Given the description of an element on the screen output the (x, y) to click on. 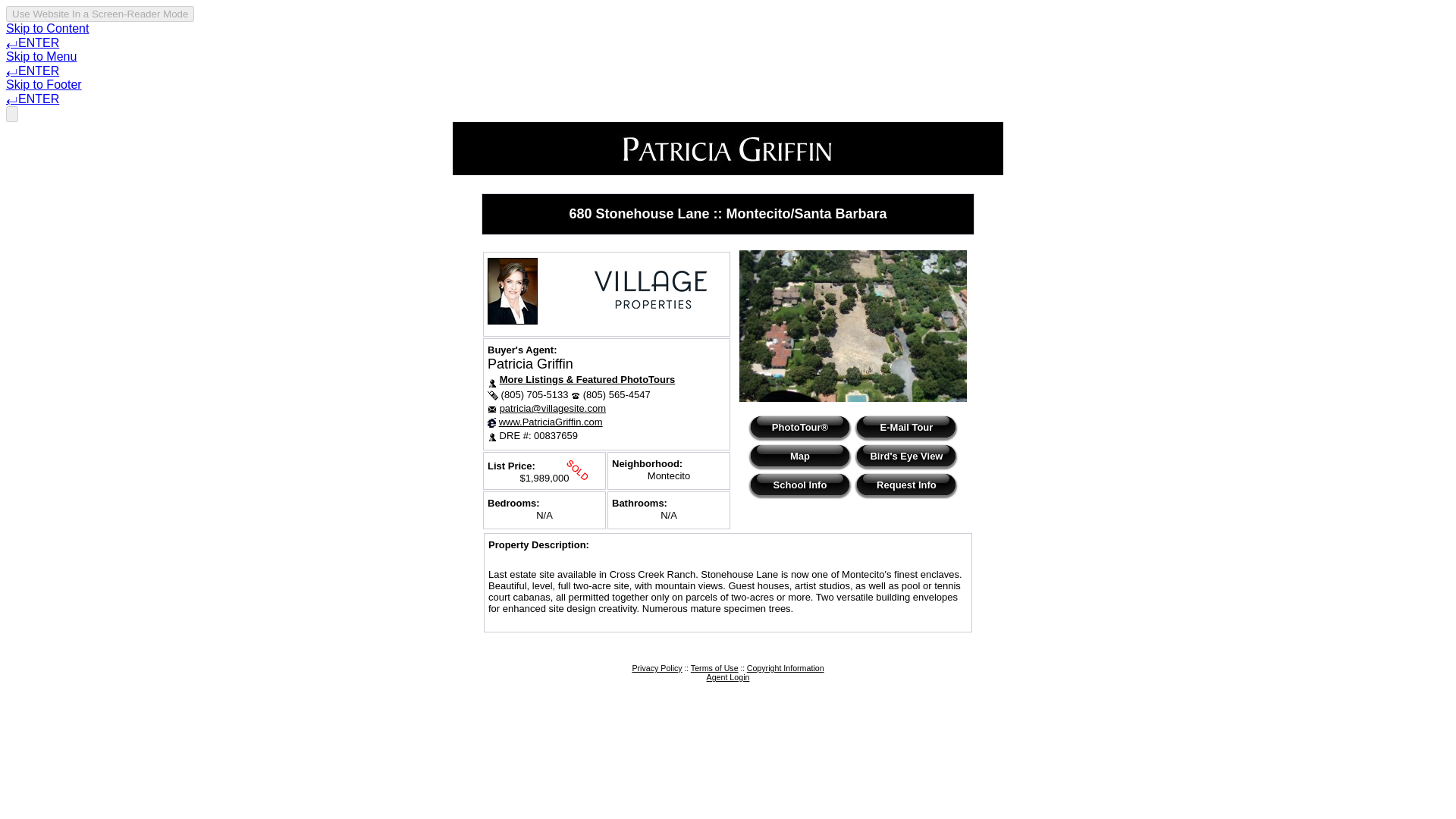
Terms of Use (714, 667)
Agent Login (727, 676)
School Info (799, 484)
Request Info (906, 484)
www.PatriciaGriffin.com (550, 421)
Copyright Information (785, 667)
Bird's Eye View (906, 455)
Map (799, 455)
Privacy Policy (656, 667)
E-Mail Tour (906, 426)
